Given the description of an element on the screen output the (x, y) to click on. 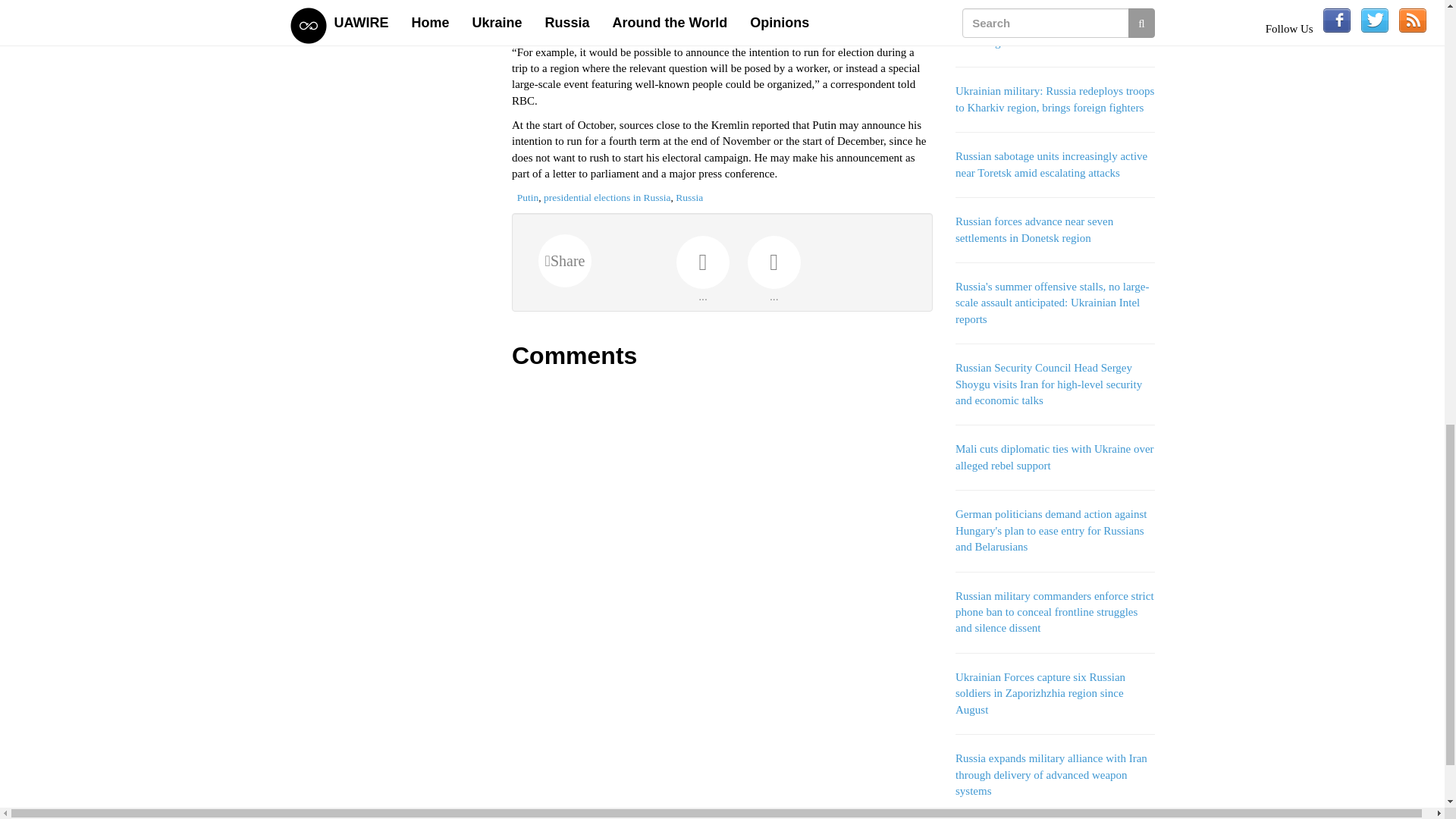
Putin (527, 197)
Russia (689, 197)
presidential elections in Russia (607, 197)
